Given the description of an element on the screen output the (x, y) to click on. 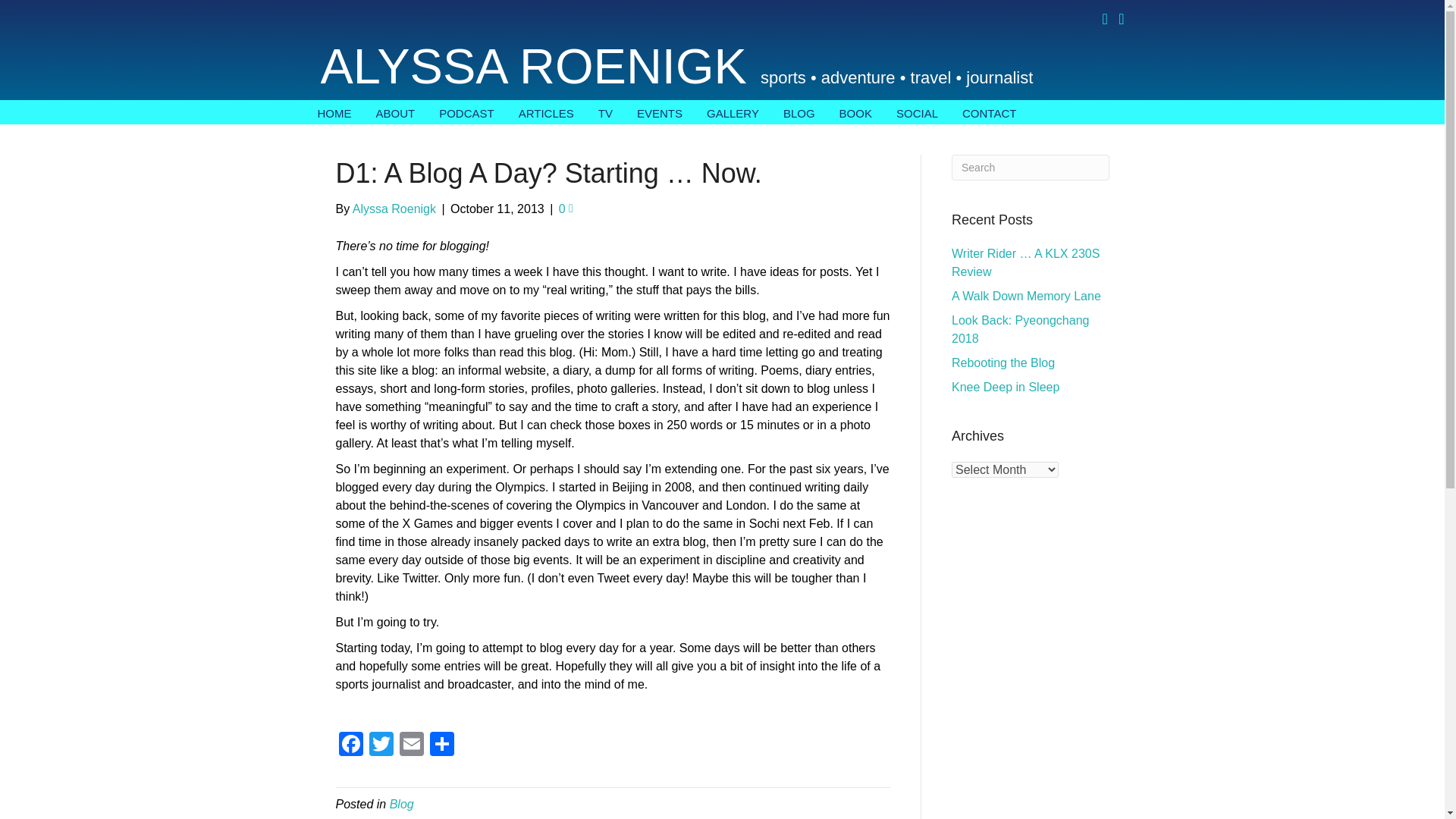
Look Back: Pyeongchang 2018 (1020, 328)
A Walk Down Memory Lane (1026, 295)
ABOUT (396, 112)
BOOK (855, 112)
Rebooting the Blog (1003, 362)
HOME (333, 112)
ARTICLES (546, 112)
GALLERY (732, 112)
Facebook (349, 746)
TV (605, 112)
EVENTS (659, 112)
SOCIAL (916, 112)
Twitter (380, 746)
Email (411, 746)
BLOG (799, 112)
